Given the description of an element on the screen output the (x, y) to click on. 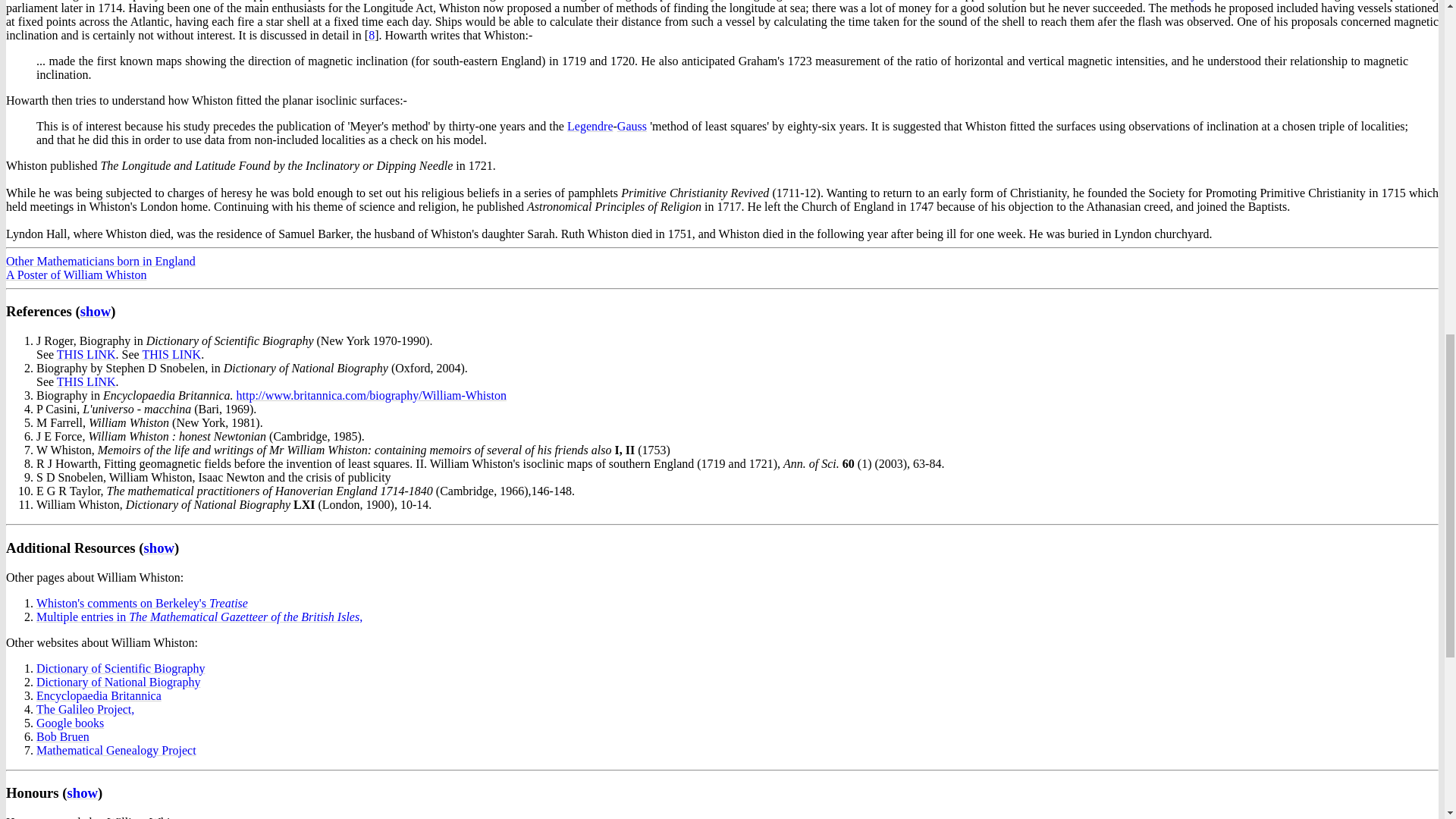
show (96, 311)
Legendre (589, 125)
Other Mathematicians born in England (100, 260)
Gauss (631, 125)
A Poster of William Whiston (76, 274)
